Given the description of an element on the screen output the (x, y) to click on. 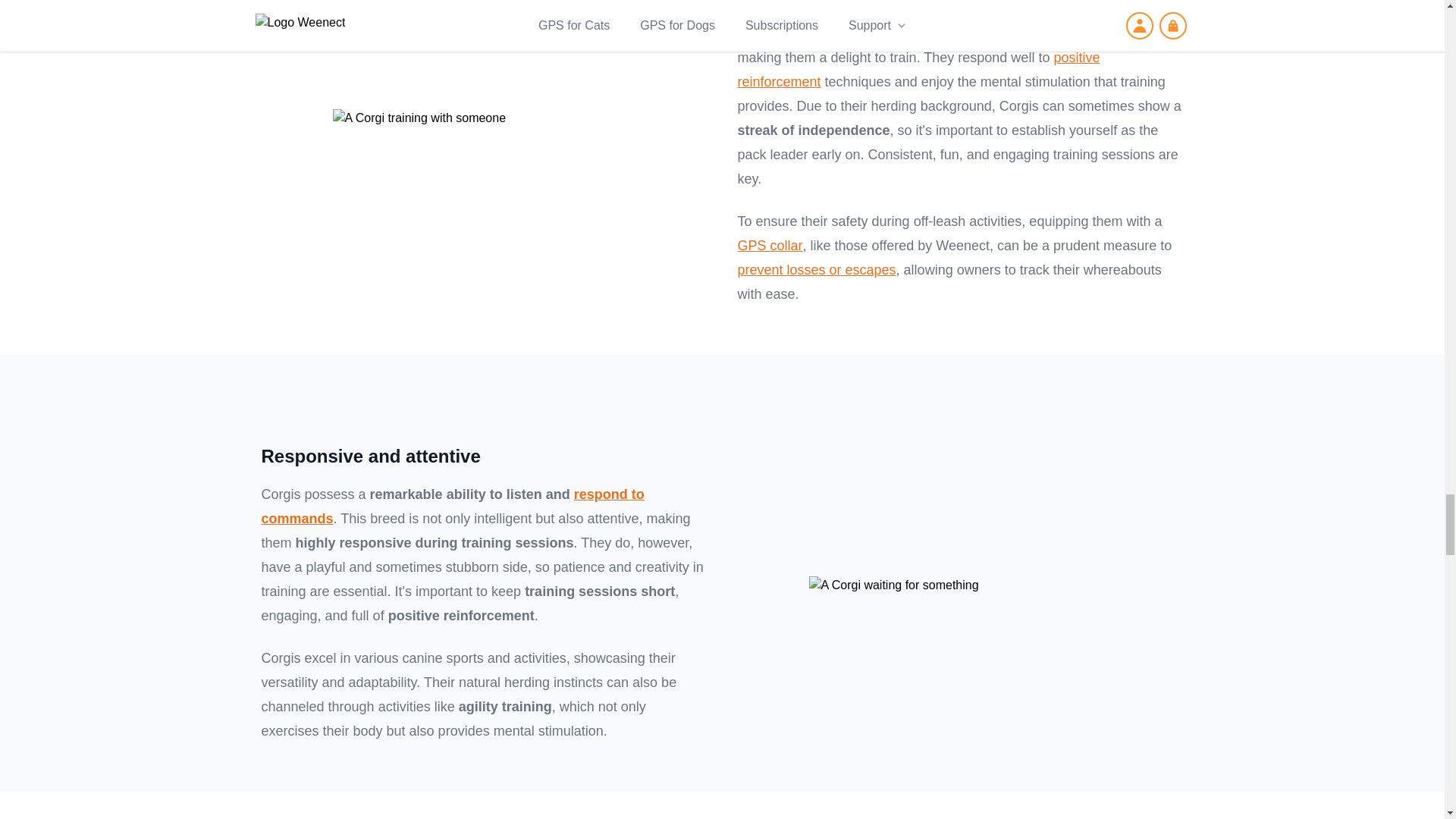
respond to commands (451, 506)
prevent losses or escapes (815, 269)
GPS collar (769, 245)
positive reinforcement (917, 69)
